Given the description of an element on the screen output the (x, y) to click on. 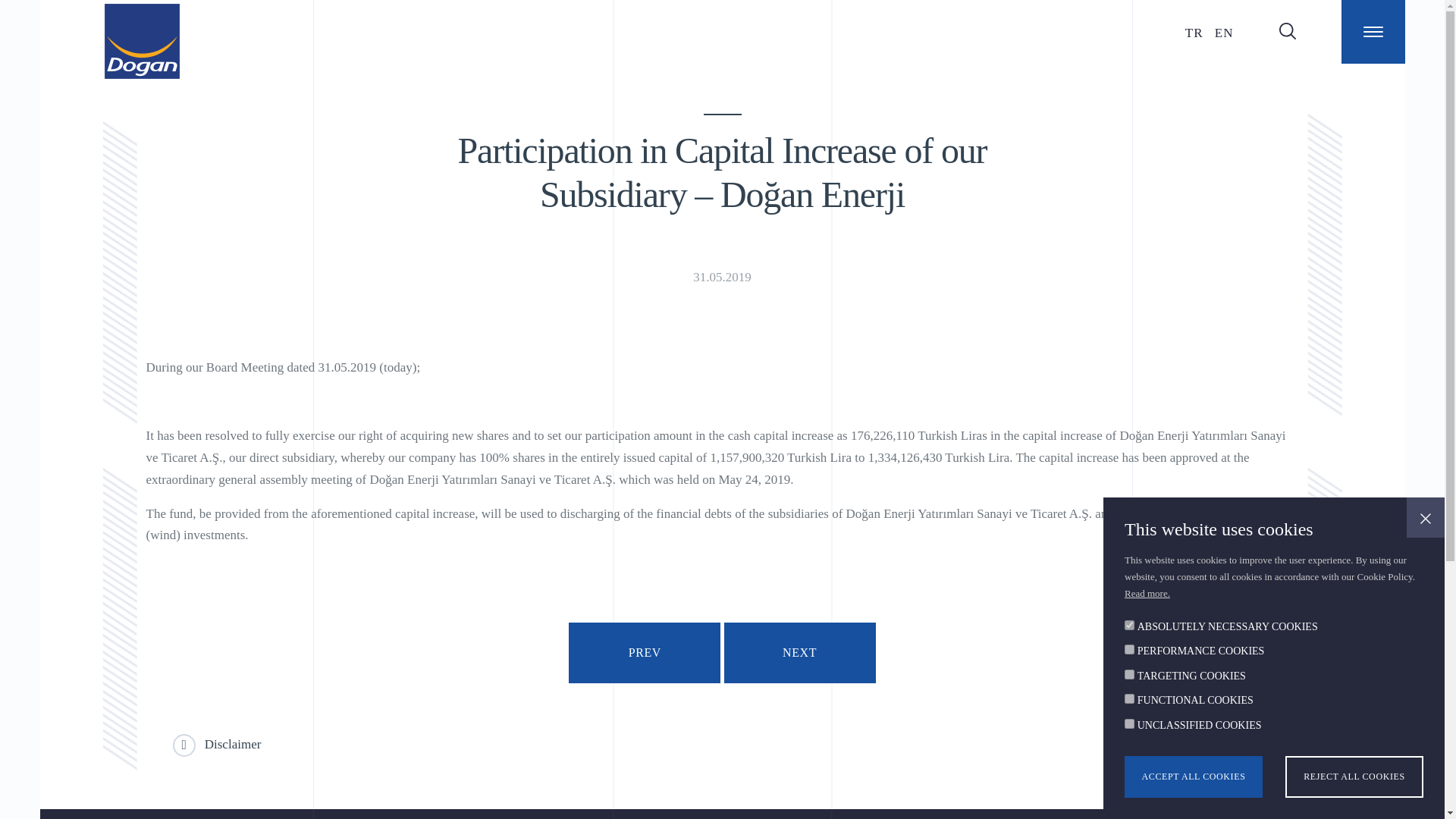
on (1129, 649)
on (1129, 698)
English (1223, 32)
on (1129, 723)
TR (1196, 32)
on (1129, 624)
EN (1223, 32)
on (1129, 673)
